Given the description of an element on the screen output the (x, y) to click on. 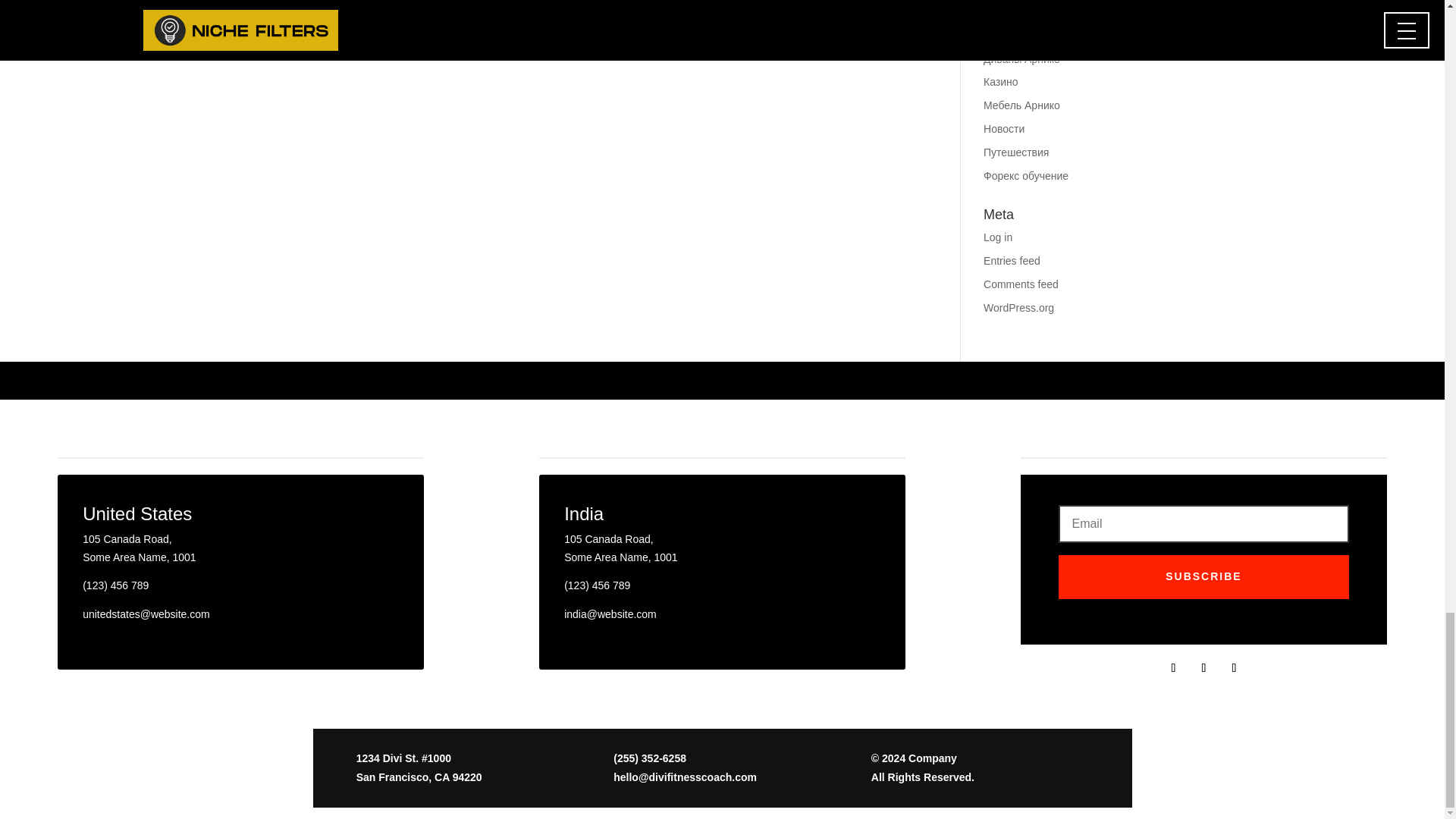
Follow on Instagram (1233, 668)
Follow on Facebook (1172, 668)
Follow on Twitter (1203, 668)
